Given the description of an element on the screen output the (x, y) to click on. 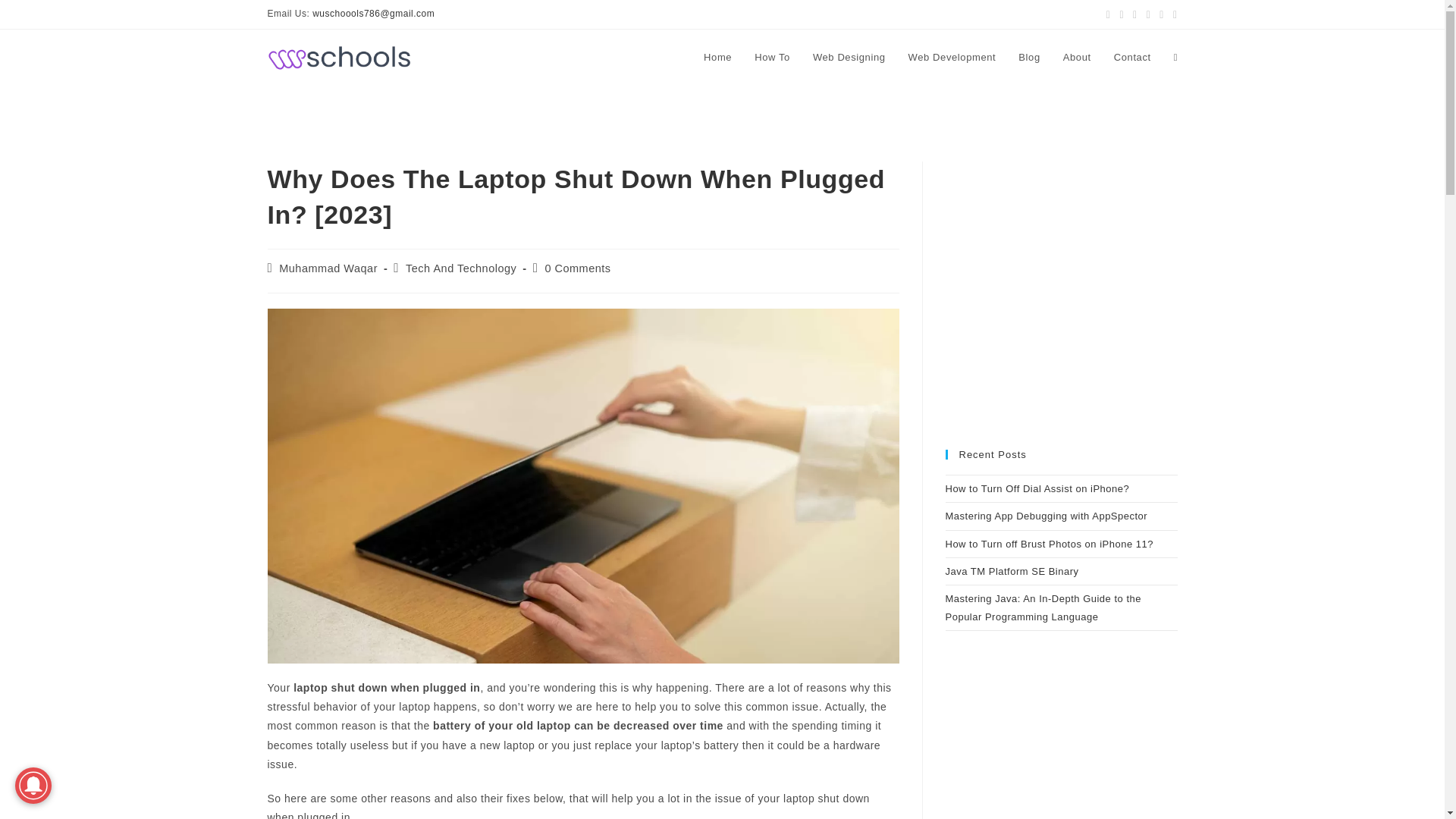
Posts by Muhammad Waqar (328, 268)
Contact (1131, 57)
Web Designing (849, 57)
Home (717, 57)
About (1076, 57)
Web Development (951, 57)
How To (772, 57)
Advertisement (1060, 757)
Advertisement (1060, 306)
